Given the description of an element on the screen output the (x, y) to click on. 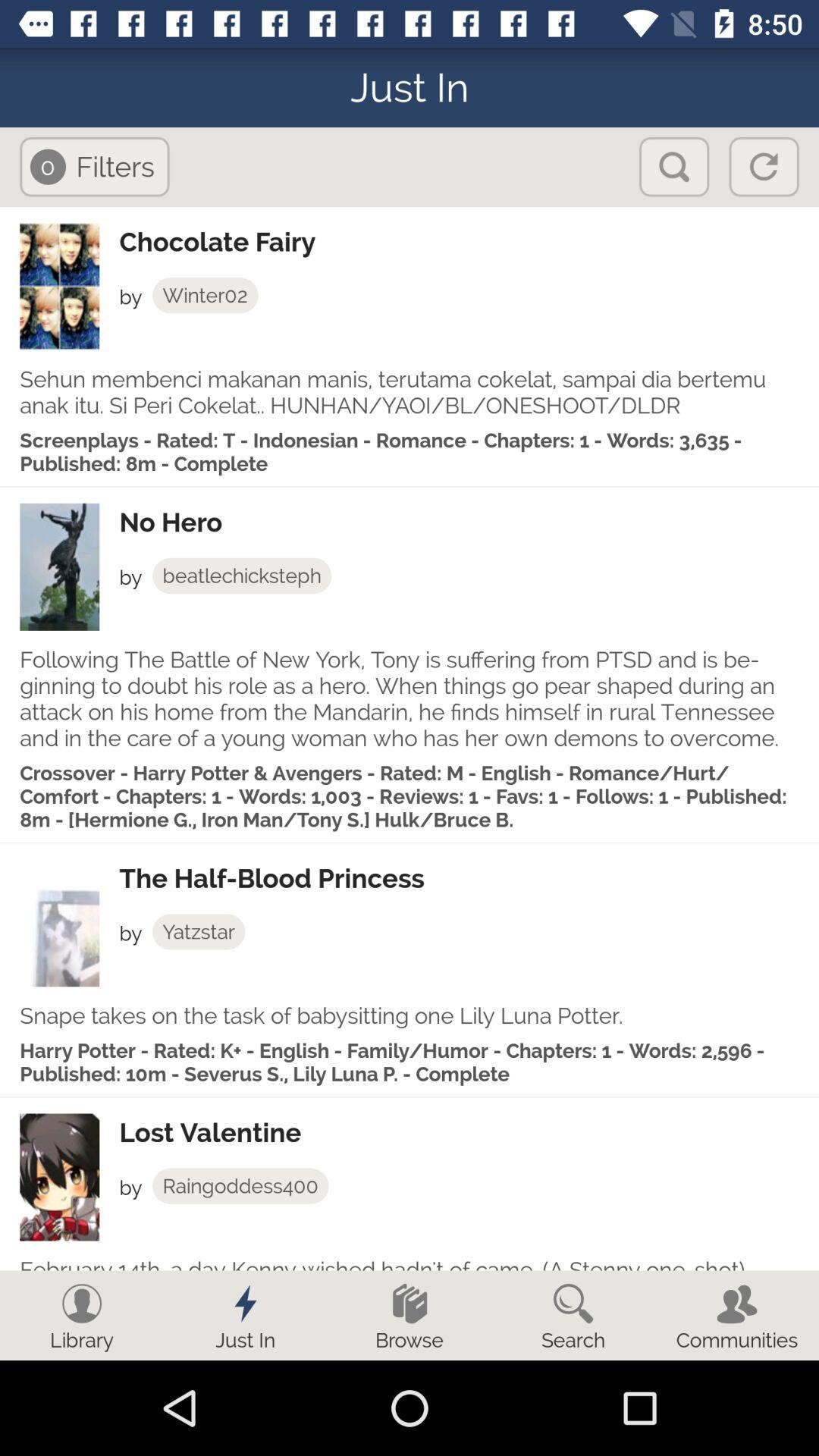
click the item below the filters item (469, 241)
